Given the description of an element on the screen output the (x, y) to click on. 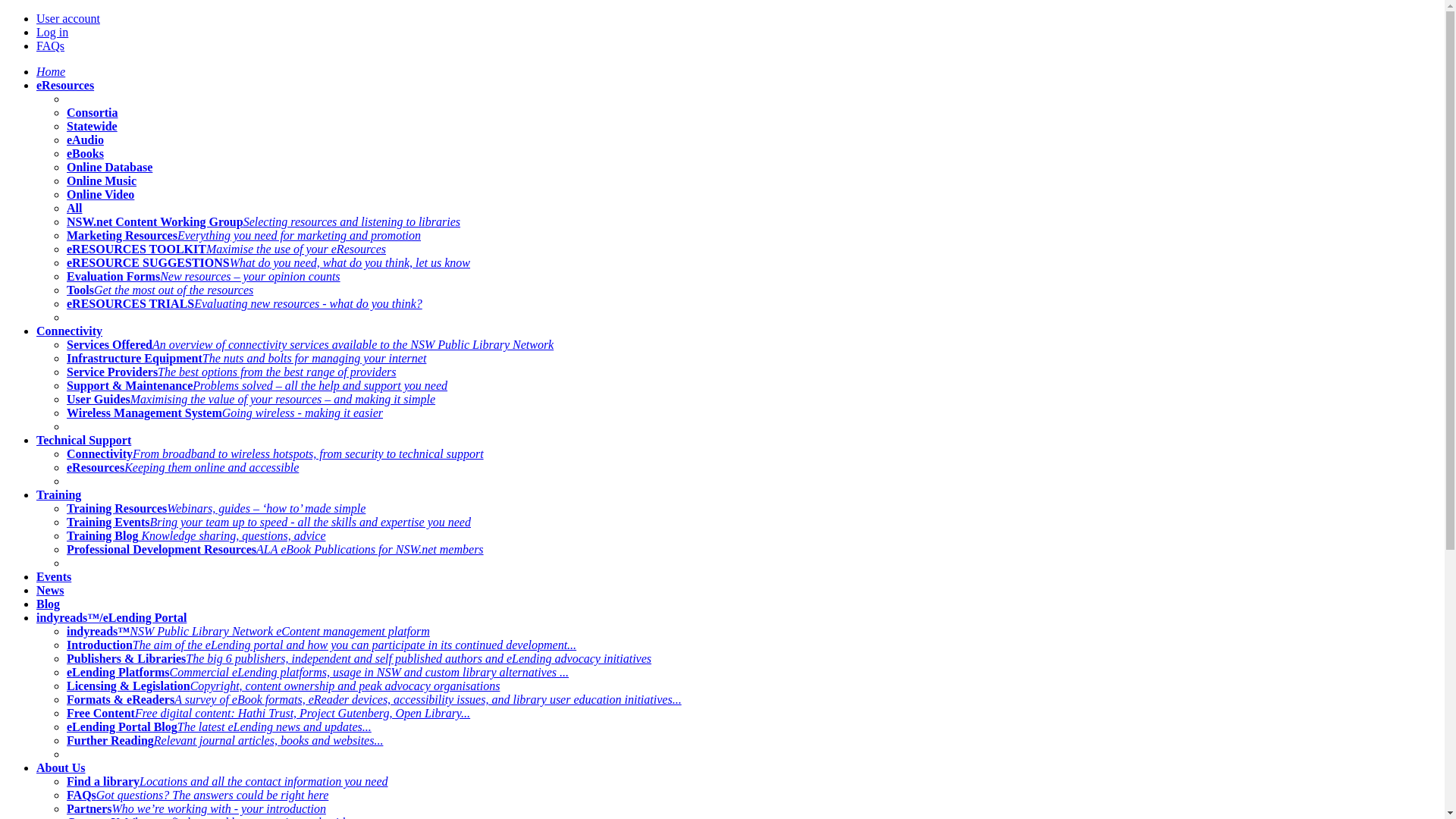
User account (68, 18)
Wireless Management SystemGoing wireless - making it easier (224, 412)
eRESOURCES TOOLKITMaximise the use of your eResources (225, 248)
Events (53, 576)
